Given the description of an element on the screen output the (x, y) to click on. 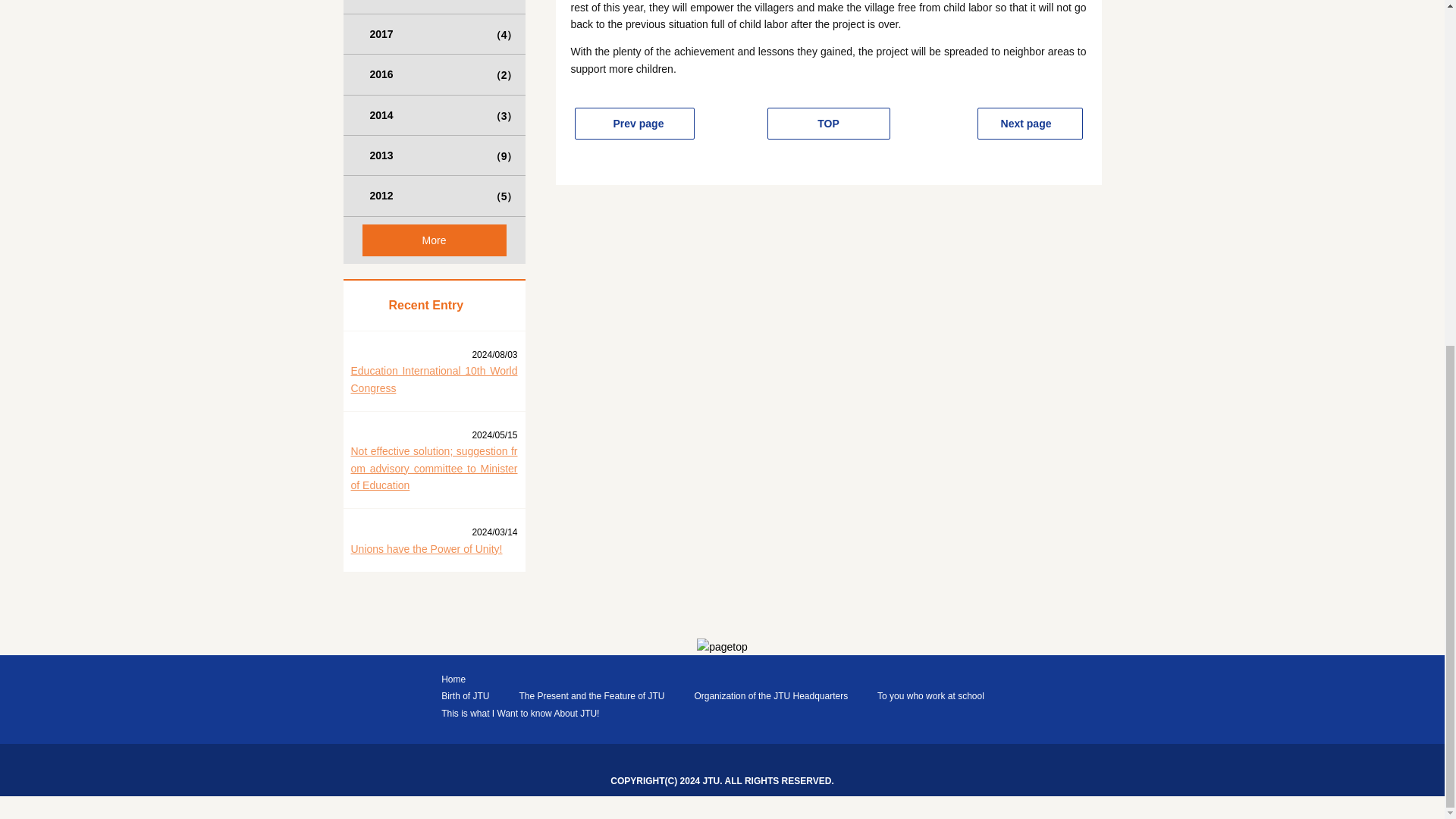
Unions have the Power of Unity! (426, 548)
Prev page (634, 123)
Education International 10th World Congress (433, 379)
TOP (828, 123)
Recent Entry (433, 304)
Home (451, 679)
Next page (1029, 123)
